Given the description of an element on the screen output the (x, y) to click on. 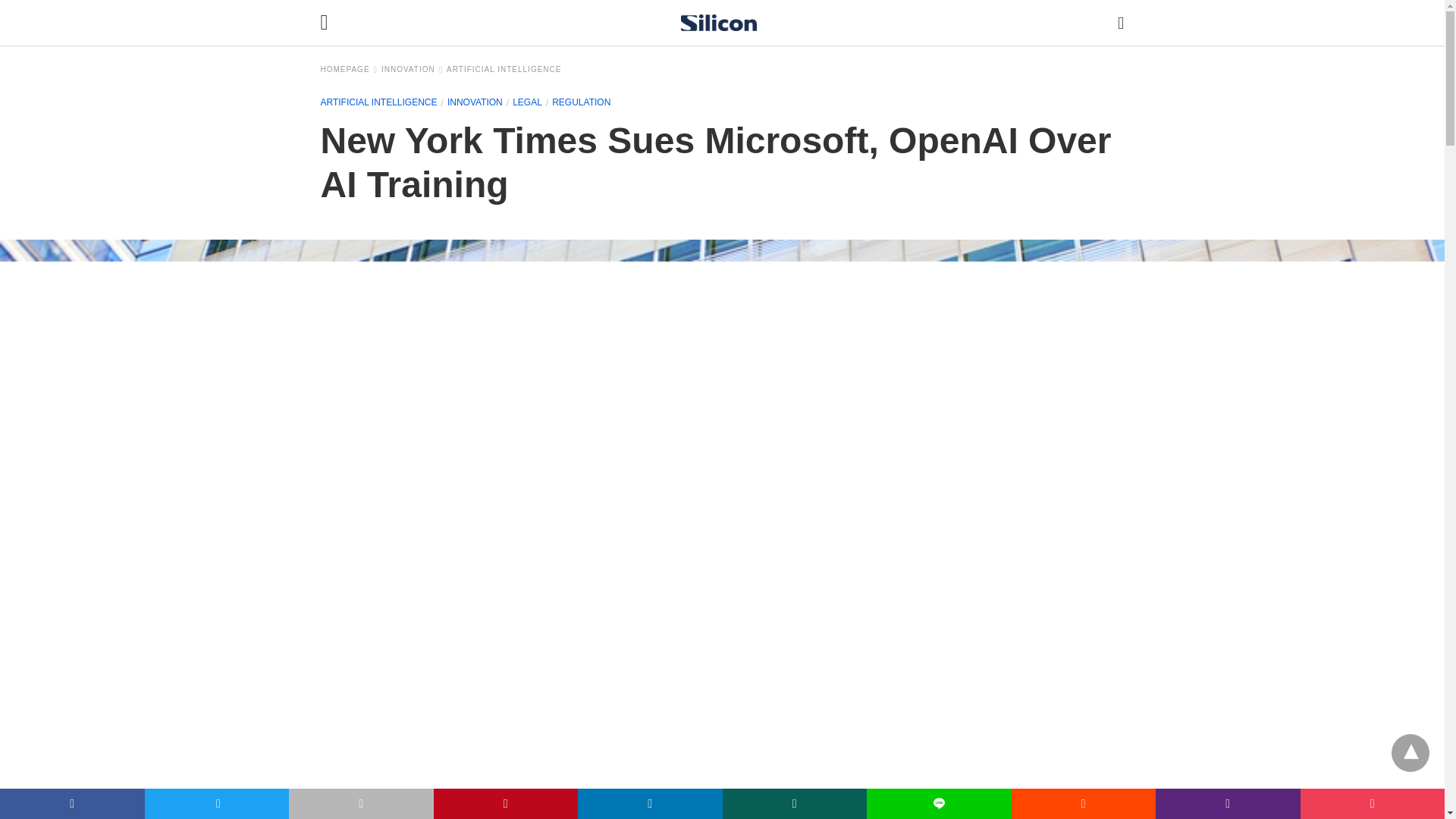
ARTIFICIAL INTELLIGENCE (503, 69)
Homepage (348, 69)
HOMEPAGE (348, 69)
INNOVATION (474, 102)
Innovation (411, 69)
REGULATION (580, 102)
Artificial Intelligence (378, 102)
INNOVATION (411, 69)
Innovation (474, 102)
ARTIFICIAL INTELLIGENCE (378, 102)
